Given the description of an element on the screen output the (x, y) to click on. 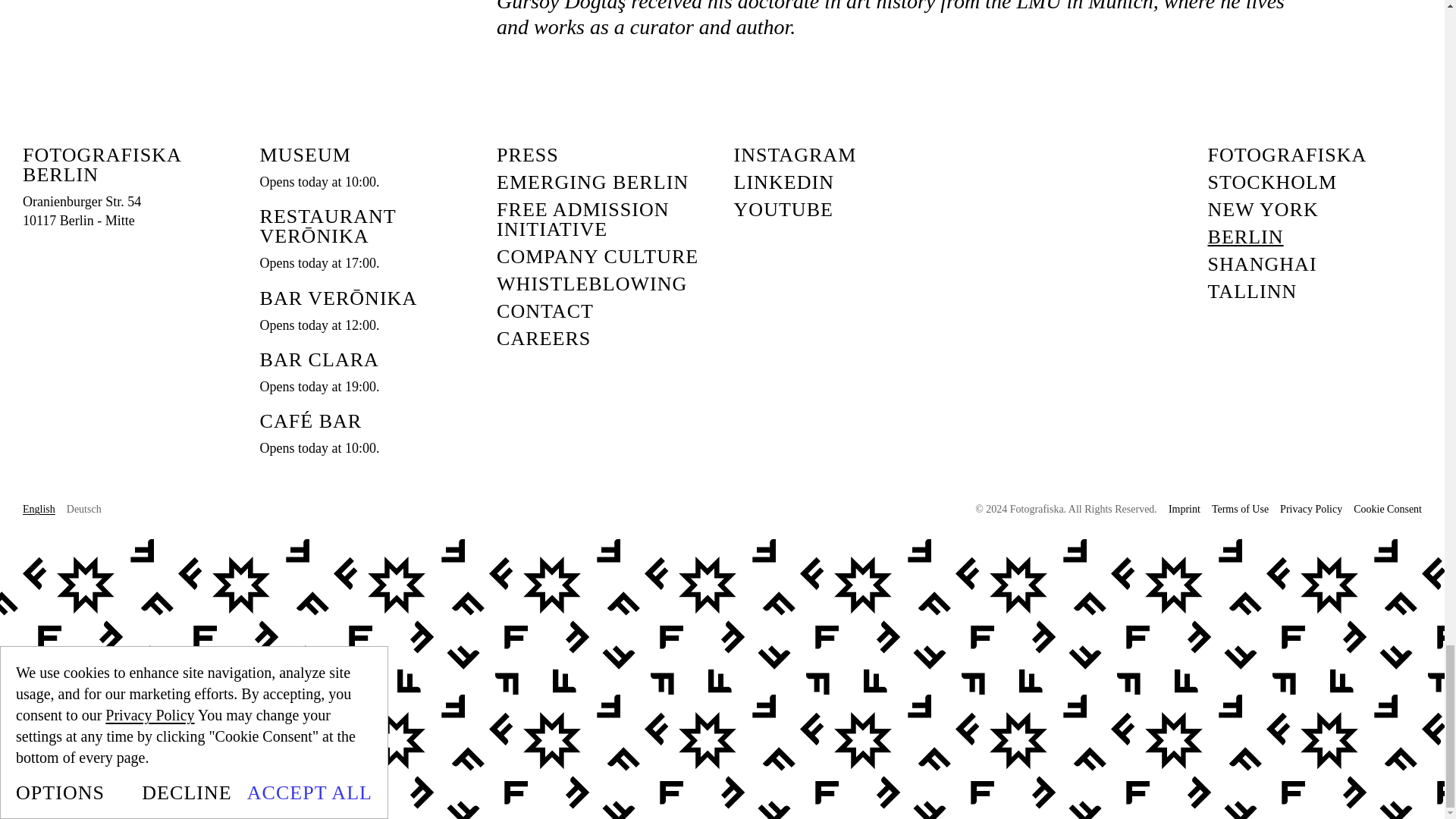
WHISTLEBLOWING (591, 284)
FREE ADMISSION INITIATIVE (603, 219)
LINKEDIN (783, 182)
INSTAGRAM (795, 155)
STOCKHOLM (1271, 182)
YOUTUBE (783, 209)
FOTOGRAFISKA (1287, 155)
Imprint (1184, 509)
TALLINN (1252, 291)
Deutsch (83, 509)
SHANGHAI (1261, 264)
BERLIN (1244, 237)
PRESS (527, 155)
CAREERS (82, 211)
